Given the description of an element on the screen output the (x, y) to click on. 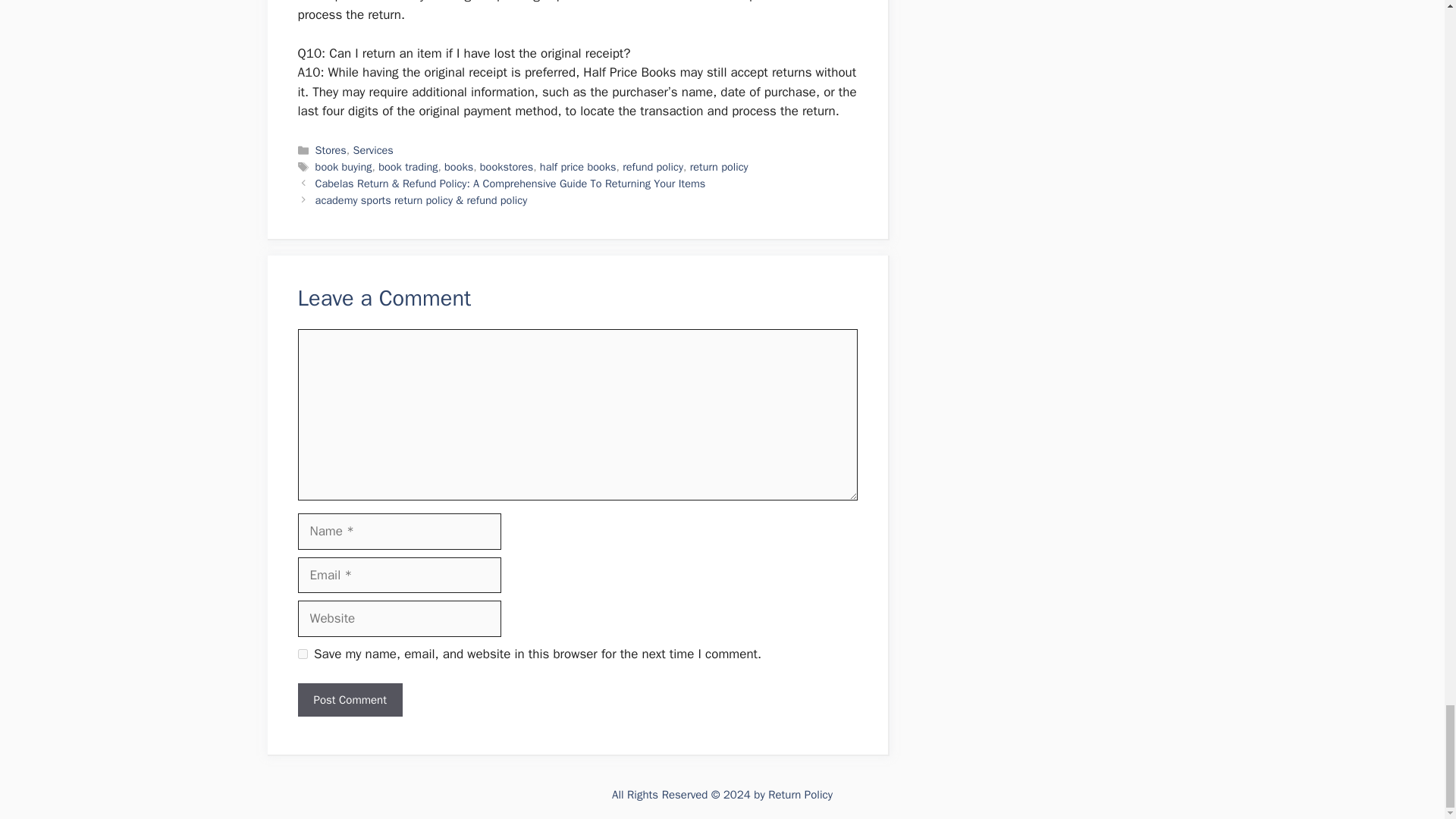
book buying (343, 166)
books (458, 166)
Stores (330, 150)
Post Comment (349, 700)
return policy (719, 166)
refund policy (652, 166)
Post Comment (349, 700)
book trading (408, 166)
yes (302, 654)
half price books (577, 166)
